Given the description of an element on the screen output the (x, y) to click on. 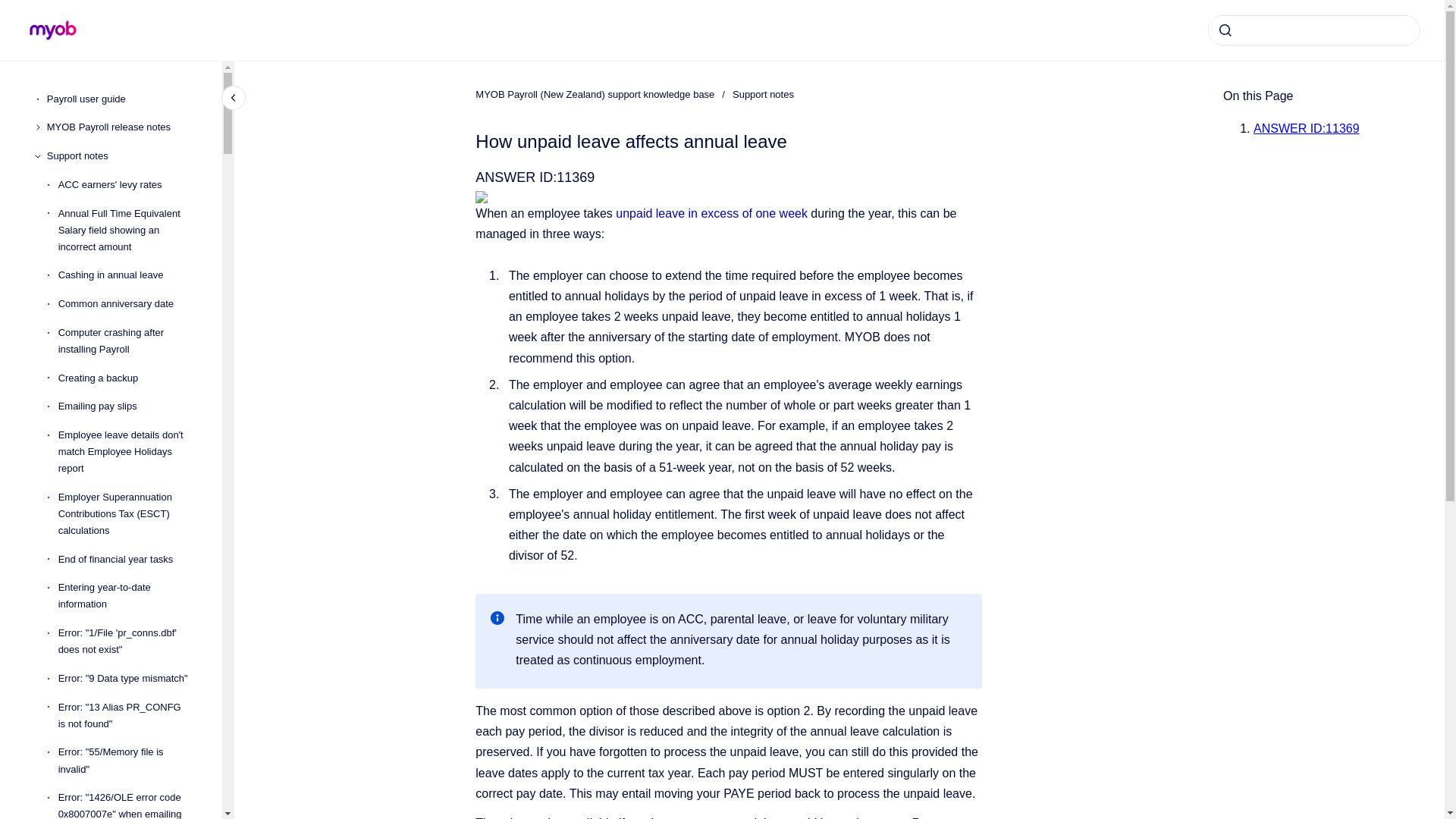
ACC earners' levy rates (128, 185)
Error: "9 Data type mismatch" (128, 678)
Employee leave details don't match Employee Holidays report (128, 451)
Common anniversary date (128, 303)
Emailing pay slips (128, 406)
Go to homepage (52, 30)
Payroll user guide (122, 99)
MYOB Payroll release notes (122, 127)
End of financial year tasks (128, 559)
Support notes (122, 155)
Computer crashing after installing Payroll (128, 341)
Creating a backup (128, 378)
Cashing in annual leave (128, 275)
Copy to clipboard (468, 175)
